Given the description of an element on the screen output the (x, y) to click on. 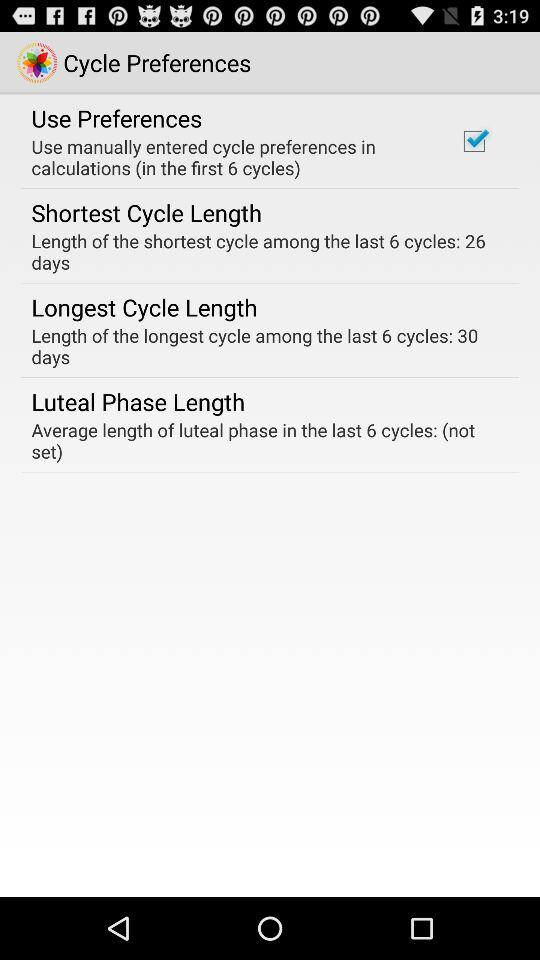
select item below the use preferences (231, 157)
